Given the description of an element on the screen output the (x, y) to click on. 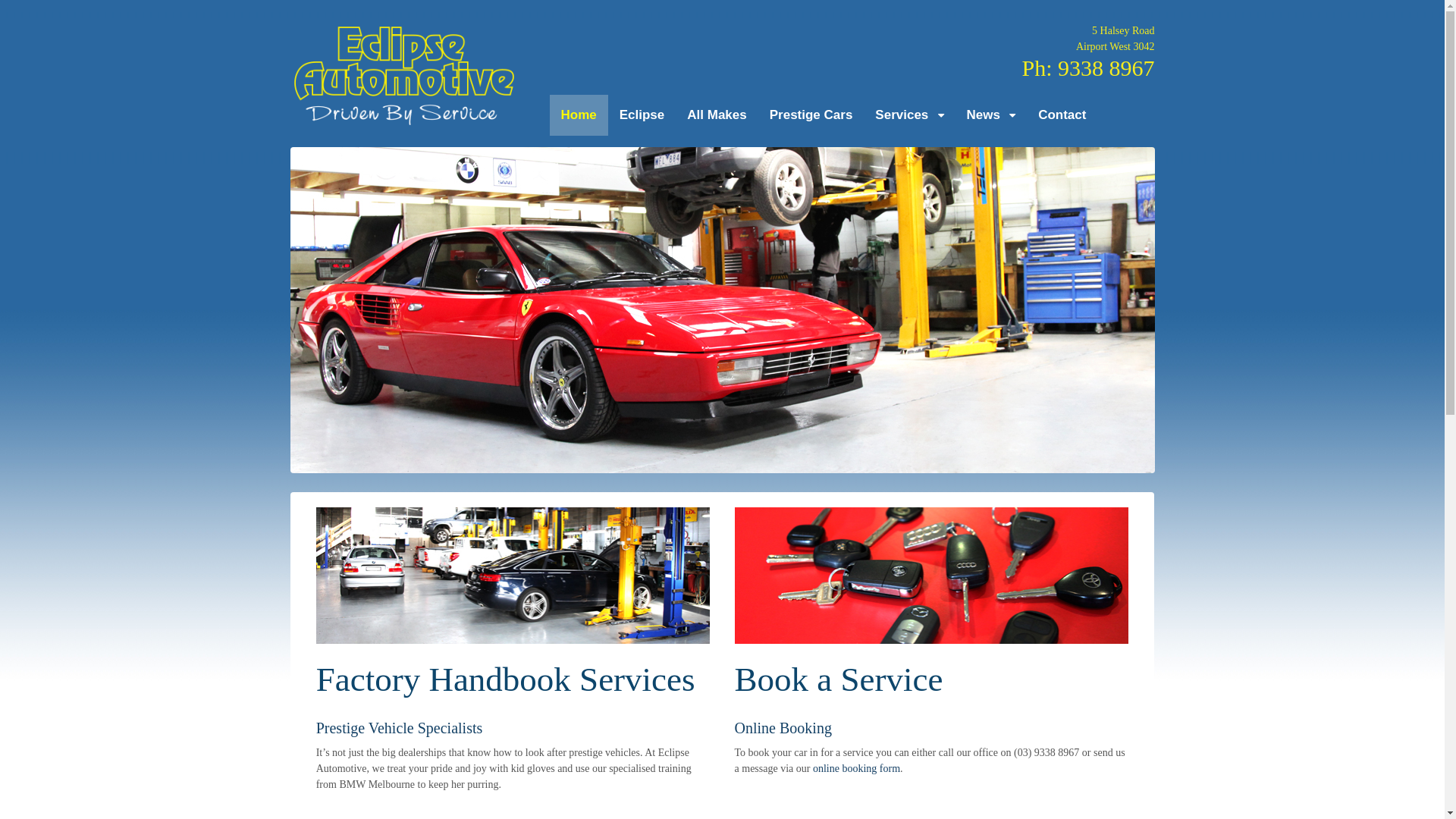
Banner 8 Element type: hover (721, 310)
Home Element type: text (578, 114)
Eclipse Element type: text (642, 114)
Services Element type: text (908, 114)
Contact Element type: text (1061, 114)
News Element type: text (991, 114)
Factory Handbook Services Element type: text (513, 607)
Prestige Cars Element type: text (811, 114)
online booking form Element type: text (856, 768)
Driven By Service Element type: hover (403, 121)
Book a Service Element type: text (931, 607)
All Makes Element type: text (716, 114)
